Given the description of an element on the screen output the (x, y) to click on. 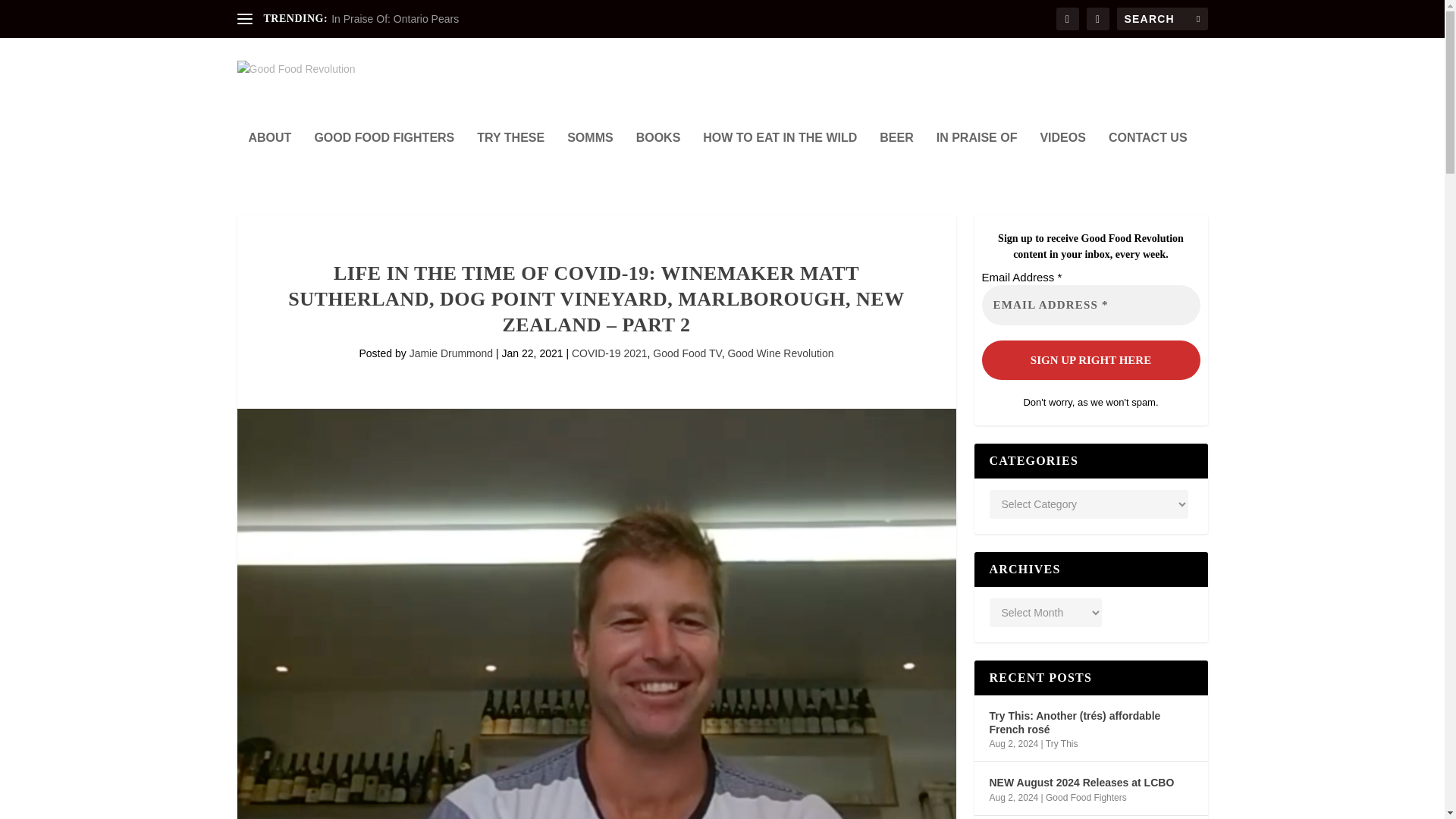
TRY THESE (510, 158)
Posts by Jamie Drummond (451, 353)
CONTACT US (1148, 158)
Search for: (1161, 18)
Sign Up Right Here (1090, 359)
COVID-19 2021 (609, 353)
Good Wine Revolution (779, 353)
Good Food TV (686, 353)
GOOD FOOD FIGHTERS (384, 158)
HOW TO EAT IN THE WILD (780, 158)
